Given the description of an element on the screen output the (x, y) to click on. 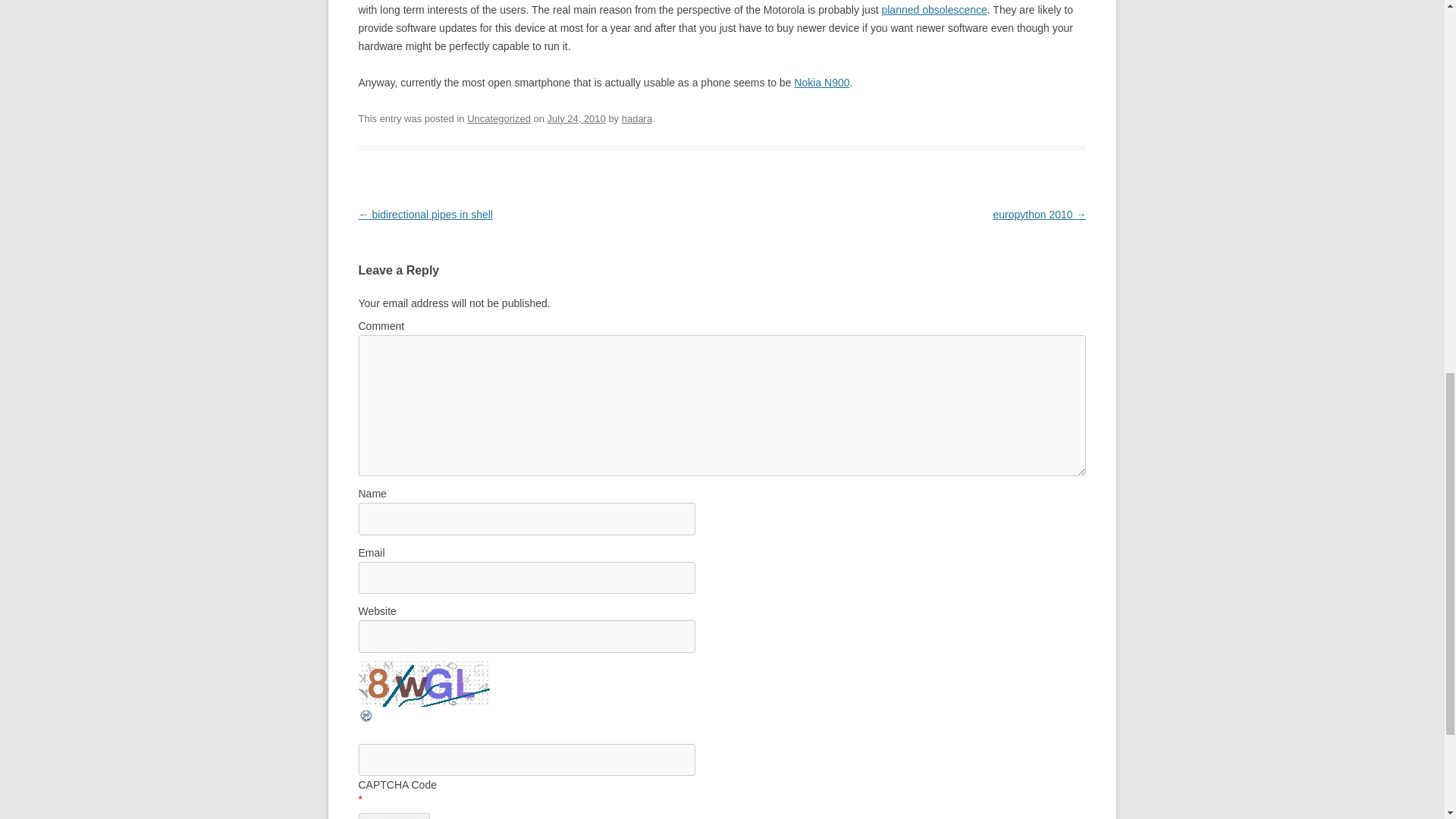
View all posts by hadara (636, 118)
CAPTCHA Image (424, 683)
Nokia N900 (820, 82)
10:01 pm (576, 118)
Uncategorized (499, 118)
Post Comment (393, 816)
planned obsolescence (933, 9)
July 24, 2010 (576, 118)
hadara (636, 118)
Refresh Image (366, 719)
